Given the description of an element on the screen output the (x, y) to click on. 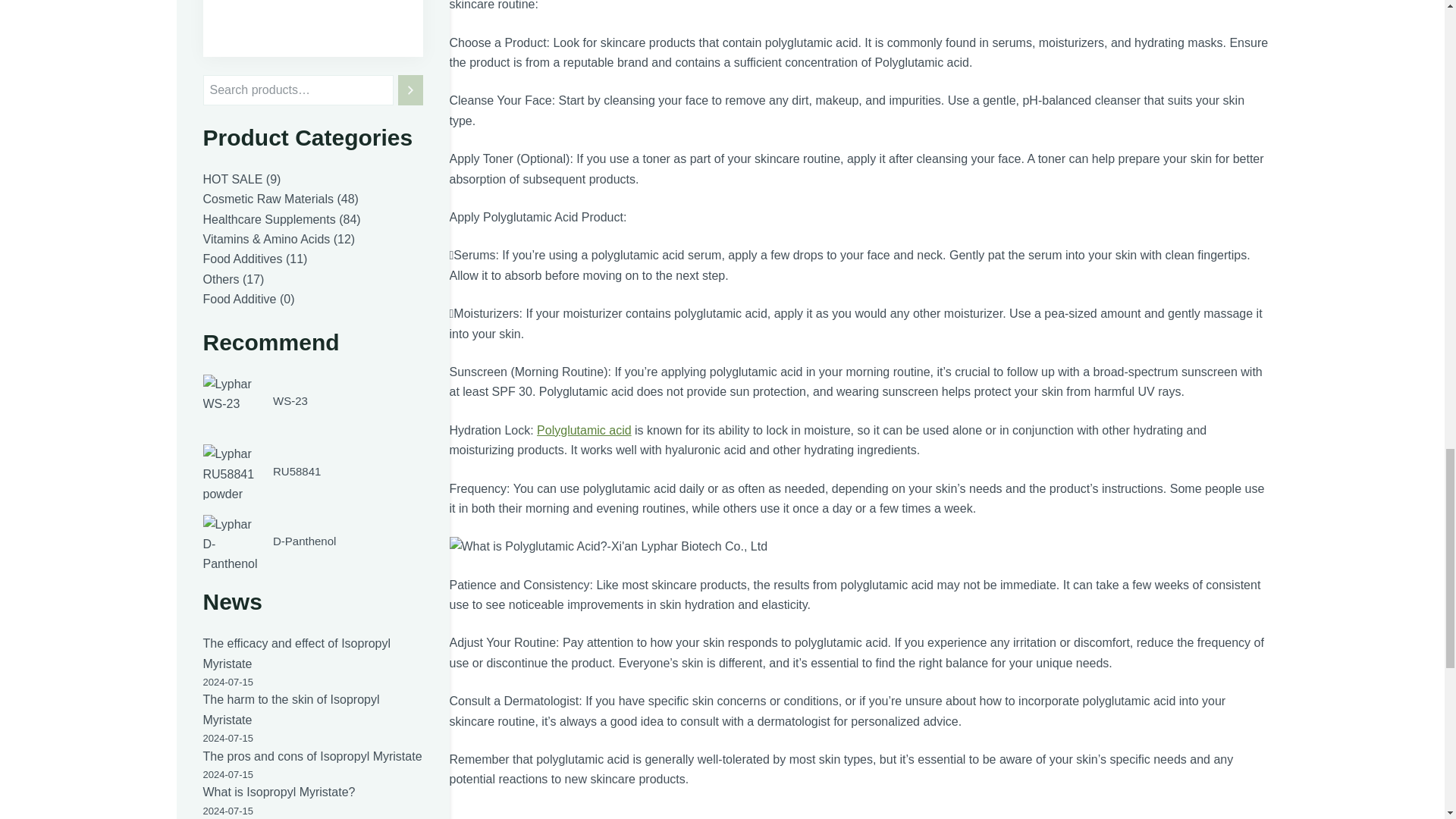
What is Polyglutamic Acid?-Xi'an Lyphar Biotech Co., Ltd (607, 546)
